Given the description of an element on the screen output the (x, y) to click on. 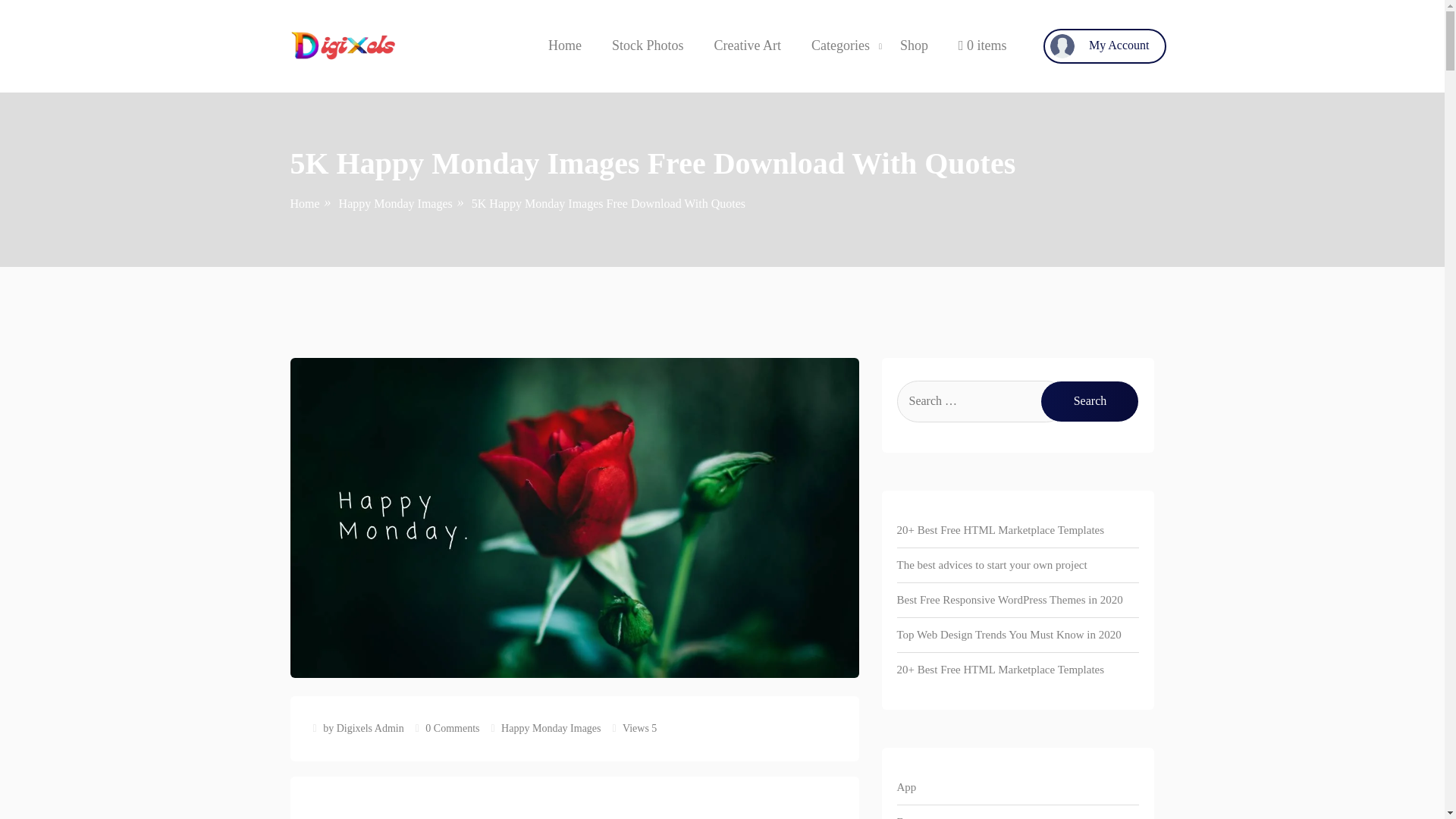
Shop (913, 45)
Home (564, 45)
Home (303, 203)
Happy Monday Images (395, 203)
Categories (839, 45)
Digixels Admin (370, 727)
Search (1089, 401)
Stock Photos (647, 45)
My Account (1104, 45)
Search (1089, 401)
Advertisement (574, 812)
0 Comments (452, 727)
Happy Monday Images (549, 727)
Creative Art (746, 45)
